Given the description of an element on the screen output the (x, y) to click on. 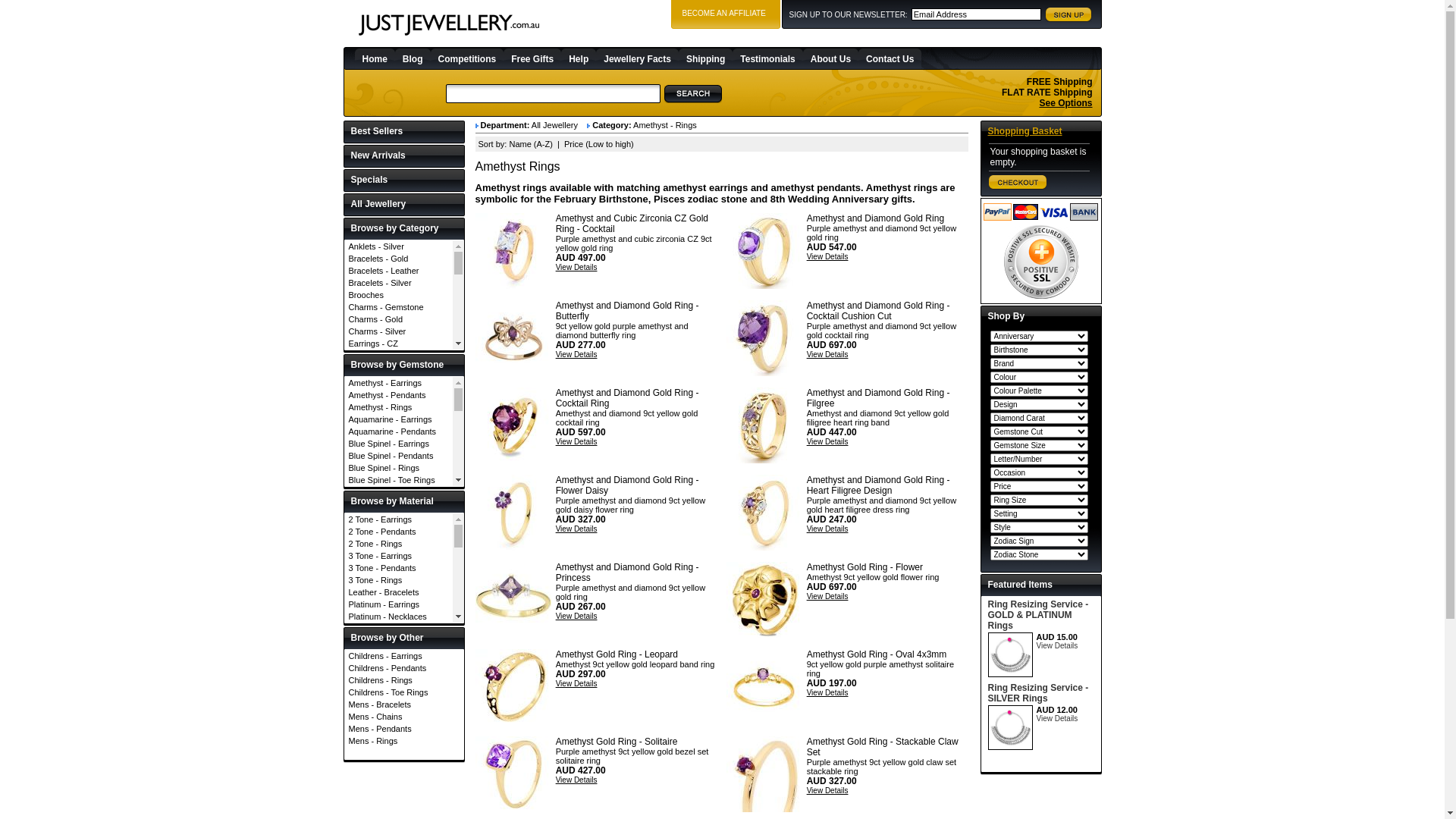
View Details Element type: text (827, 528)
Amethyst Gold Ring - Flower Element type: text (864, 566)
Aquamarine - Pendants Element type: text (398, 431)
Amethyst and Diamond Gold Ring Element type: hover (764, 250)
Check out Element type: hover (1017, 182)
Blog Element type: text (412, 58)
Amethyst Gold Ring - Oval 4x3mm Element type: hover (764, 686)
See Options Element type: text (1065, 102)
View Details Element type: text (576, 615)
Opal - Pendants Element type: text (398, 759)
Tungsten - Pendants Element type: text (398, 810)
Childrens - Earrings Element type: text (404, 655)
Earrings - Gemstone Element type: text (398, 367)
Silver - Toe Rings Element type: text (398, 798)
Help Element type: text (578, 58)
Jewellery Facts Element type: text (637, 58)
Amethyst and Diamond Gold Ring - Heart Filigree Design Element type: hover (764, 512)
Rose Gold - Necklaces Element type: text (398, 677)
Amethyst and Diamond Gold Ring - Filgree Element type: hover (764, 425)
Amethyst and Diamond Gold Ring - Flower Daisy Element type: hover (512, 512)
Silver - Charms Element type: text (398, 737)
Silver - Rings Element type: text (398, 786)
Leather - Bracelets Element type: text (398, 592)
View Details Element type: text (1056, 645)
Charms - Gold Element type: text (398, 319)
Necklaces - CZ Element type: text (398, 428)
Necklaces - Gold Element type: text (398, 464)
View Details Element type: text (576, 354)
Name (A-Z) Element type: text (530, 143)
Emerald - Earrings Element type: text (398, 674)
Toe Rings - CZ Element type: text (398, 671)
3 Tone - Pendants Element type: text (398, 567)
Childrens - Toe Rings Element type: text (404, 692)
Rings - Men Element type: text (398, 634)
Diamond - Earrings Element type: text (398, 613)
Platinum - Earrings Element type: text (398, 604)
Amethyst and Diamond Gold Ring - Princess Element type: hover (512, 599)
Diamond - Toe Rings Element type: text (398, 661)
CZ - Toe Rings Element type: text (398, 601)
Rings - CZ Element type: text (398, 586)
Toe Rings - Silver Element type: text (398, 719)
Amethyst - Rings Element type: text (398, 407)
Diamond - Pendants Element type: text (398, 637)
Blue Spinel - Toe Rings Element type: text (398, 479)
Charms - Silver Element type: text (398, 331)
Silver - Anklets Element type: text (398, 713)
Rings - Gold Element type: text (398, 622)
Amethyst and Cubic Zirconia CZ Gold Ring - Cocktail Element type: hover (512, 250)
Garnet - Earrings Element type: text (398, 710)
Amethyst and Diamond Gold Ring - Cocktail Cushion Cut Element type: hover (764, 338)
Peridot - Rings Element type: text (398, 807)
Childrens - Pendants Element type: text (404, 668)
View Details Element type: text (1056, 718)
View Details Element type: text (576, 683)
Amethyst Gold Ring - Leopard Element type: hover (512, 686)
Toe Rings - Diamond Element type: text (398, 683)
Pendants - Tungsten Element type: text (398, 573)
Pearl - Pendants Element type: text (398, 795)
2 Tone - Earrings Element type: text (398, 519)
View Details Element type: text (827, 441)
Amethyst and Cubic Zirconia CZ Gold Ring - Cocktail Element type: text (631, 223)
Pendants - Silver Element type: text (398, 561)
Amethyst Gold Ring - Oval 4x3mm Element type: text (876, 654)
CZ - Rings Element type: text (398, 589)
View Details Element type: text (576, 528)
Blue Spinel - Pendants Element type: text (398, 455)
Pendants - Gold Element type: text (398, 537)
Necklaces - Gemstone Element type: text (398, 452)
Contact Us Element type: text (889, 58)
About Us Element type: text (830, 58)
Specials Element type: text (403, 180)
Blue Topaz - Rings Element type: text (398, 528)
Toe Rings - Gemstone Element type: text (398, 695)
Emerald - Pendants Element type: text (398, 686)
CZ - Pendants Element type: text (398, 577)
Pearl - Earrings Element type: text (398, 783)
Amethyst and Diamond Gold Ring - Cocktail Ring Element type: hover (512, 425)
Charms - Gemstone Element type: text (398, 307)
Blue Spinel - Rings Element type: text (398, 467)
Bracelets - Gold Element type: text (398, 258)
Amethyst Gold Ring - Stackable Claw Set Element type: hover (764, 774)
Earrings - Platinum Element type: text (398, 404)
Earrings - CZ Element type: text (398, 343)
Brooches Element type: text (398, 294)
View Details Element type: text (827, 692)
View Details Element type: text (576, 441)
Ring Resizing Service - GOLD & PLATINUM Rings Element type: text (1037, 614)
Amethyst and Diamond Gold Ring - Princess Element type: text (627, 572)
Rose Gold - Pendants Element type: text (398, 689)
View Details Element type: text (827, 790)
Rose Gold - Rings Element type: text (398, 701)
Necklaces - Platinum Element type: text (398, 476)
Platinum - Necklaces Element type: text (398, 616)
1300 722 230 Element type: hover (1057, 57)
Amethyst and Diamond Gold Ring - Butterfly Element type: hover (512, 338)
Amethyst Gold Ring - Flower Element type: hover (764, 599)
Opal - Rings Element type: text (398, 771)
Rings - Tungsten Element type: text (398, 658)
Pendants - CZ Element type: text (398, 501)
Amethyst and Diamond Gold Ring - Flower Daisy Element type: text (627, 484)
Necklaces - Diamond Element type: text (398, 440)
Amethyst and Diamond Gold Ring - Filgree Element type: text (878, 397)
View Details Element type: text (827, 256)
Price (Low to high) Element type: text (598, 143)
Blue Topaz - Earrings Element type: text (398, 492)
CZ - Earrings Element type: text (398, 552)
Shopping Basket Element type: text (1024, 130)
View Details Element type: text (576, 267)
Testimonials Element type: text (767, 58)
Rose Gold - Bracelets Element type: text (398, 652)
Blue Topaz - Necklaces Element type: text (398, 504)
Anklets - Silver Element type: text (398, 246)
New Arrivals Element type: text (403, 156)
Garnet - Rings Element type: text (398, 734)
Best Sellers Element type: text (403, 132)
Platinum - Pendants Element type: text (398, 628)
Silver - Earrings Element type: text (398, 749)
Rings - Gemstone Element type: text (398, 610)
Amethyst - Earrings Element type: text (398, 382)
Earrings - Diamond Element type: text (398, 355)
2 Tone - Pendants Element type: text (398, 531)
Pendants - Pearl Element type: text (398, 549)
Other Categories Element type: text (398, 731)
All Jewellery Element type: text (403, 204)
Mens - Bracelets Element type: text (404, 704)
Pendants - Diamond Element type: text (398, 513)
Amethyst and Diamond Gold Ring - Butterfly Element type: text (627, 310)
Silver - Pendants Element type: text (398, 774)
Amethyst and Diamond Gold Ring Element type: text (875, 218)
Mens - Chains Element type: text (404, 716)
Emerald - Rings Element type: text (398, 698)
Amethyst - Pendants Element type: text (398, 395)
CZ - Necklaces Element type: text (398, 564)
2 Tone - Rings Element type: text (398, 543)
Childrens - Rings Element type: text (404, 680)
View Details Element type: text (827, 596)
Aquamarine - Earrings Element type: text (398, 419)
Diamond - Rings Element type: text (398, 649)
Just Jewellery Element type: hover (448, 24)
Garnet - Pendants Element type: text (398, 722)
Earrings - Silver Element type: text (398, 416)
Rings - Diamond Element type: text (398, 598)
Free Gifts Element type: text (532, 58)
Silver - Necklaces Element type: text (398, 762)
Ring Resizing Service - SILVER Rings Element type: text (1037, 692)
Competitions Element type: text (467, 58)
3 Tone - Rings Element type: text (398, 580)
Amethyst Gold Ring - Solitaire Element type: text (616, 741)
Amethyst and Diamond Gold Ring - Heart Filigree Design Element type: text (878, 484)
Mens - Pendants Element type: text (404, 728)
Citrine - Brooches Element type: text (398, 540)
Amethyst Gold Ring - Leopard Element type: text (616, 654)
Toe Rings - Gold Element type: text (398, 707)
SSL Certificate Secured Website Element type: hover (1041, 261)
Amethyst Gold Ring - Stackable Claw Set Element type: text (882, 746)
Silver - Bracelets Element type: text (398, 725)
Necklaces - Silver Element type: text (398, 489)
Mens - Rings Element type: text (404, 740)
Home Element type: text (374, 58)
Platinum - Rings Element type: text (398, 640)
Rings - Silver Element type: text (398, 646)
Diamond - Necklaces Element type: text (398, 625)
Rose Gold - Earrings Element type: text (398, 664)
Amethyst and Diamond Gold Ring - Cocktail Ring Element type: text (627, 397)
3 Tone - Earrings Element type: text (398, 555)
Pendants - Gemstone Element type: text (398, 525)
Shipping Element type: text (705, 58)
Bracelets - Silver Element type: text (398, 282)
View Details Element type: text (827, 354)
Blue Spinel - Earrings Element type: text (398, 443)
Amethyst Gold Ring - Solitaire Element type: hover (512, 774)
Amethyst and Diamond Gold Ring - Cocktail Cushion Cut Element type: text (878, 310)
Bracelets - Leather Element type: text (398, 270)
View Details Element type: text (576, 779)
Blue Topaz - Pendants Element type: text (398, 516)
Earrings - Gold Element type: text (398, 379)
Opal - Earrings Element type: text (398, 746)
Earrings - Pearl Element type: text (398, 391)
